Given the description of an element on the screen output the (x, y) to click on. 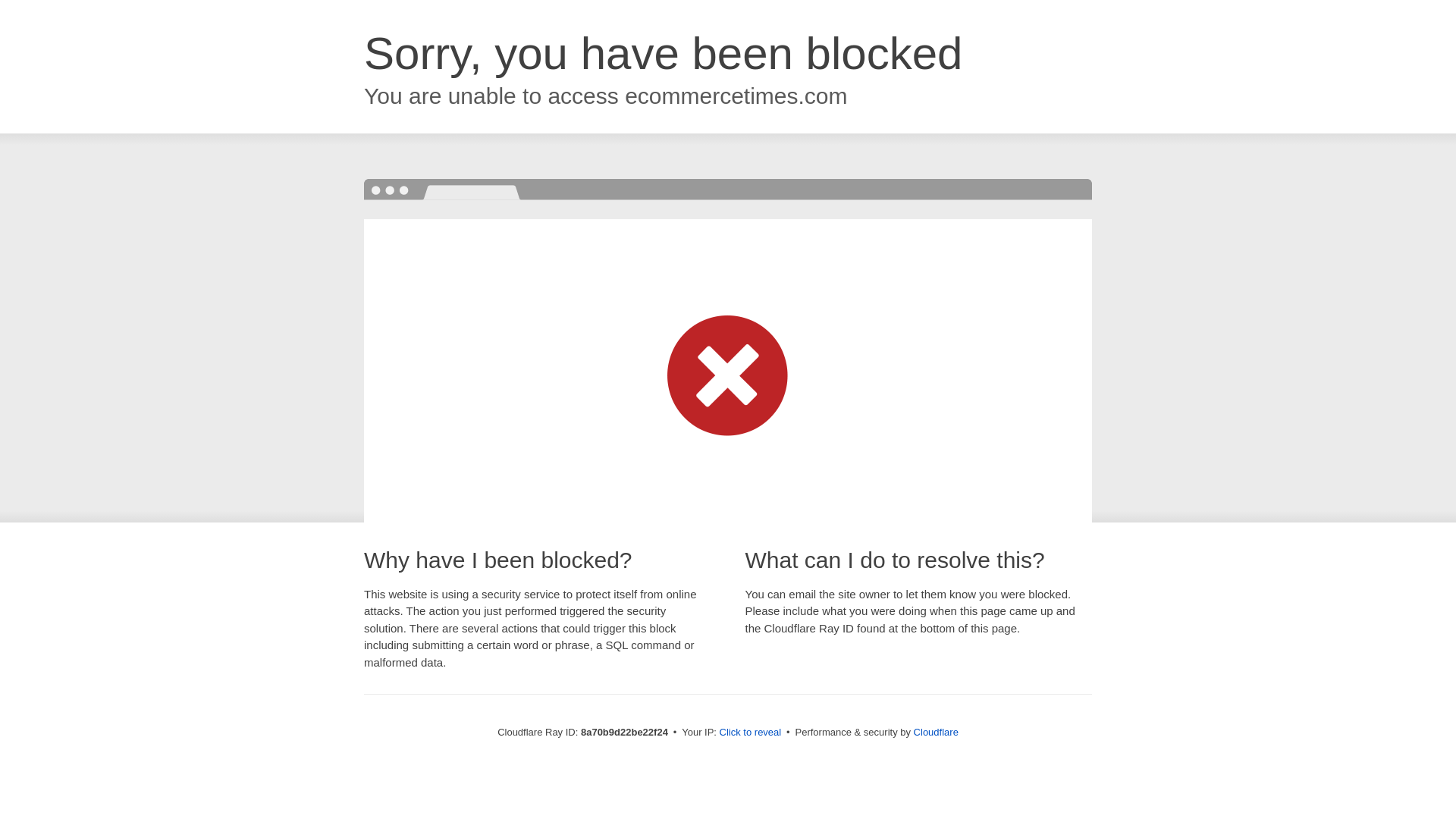
Cloudflare (936, 731)
Click to reveal (750, 732)
